Given the description of an element on the screen output the (x, y) to click on. 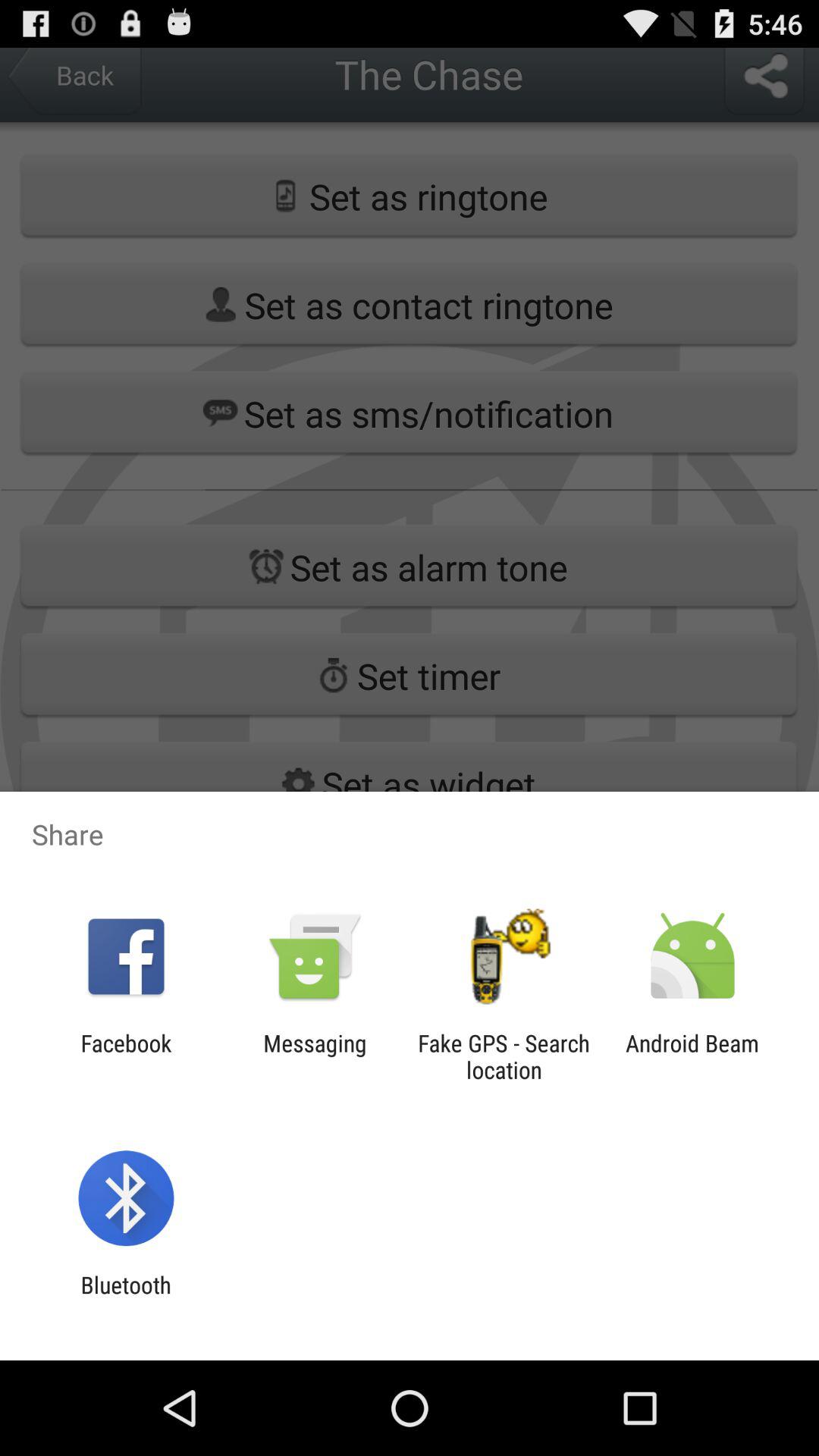
turn off the icon next to the messaging (125, 1056)
